Given the description of an element on the screen output the (x, y) to click on. 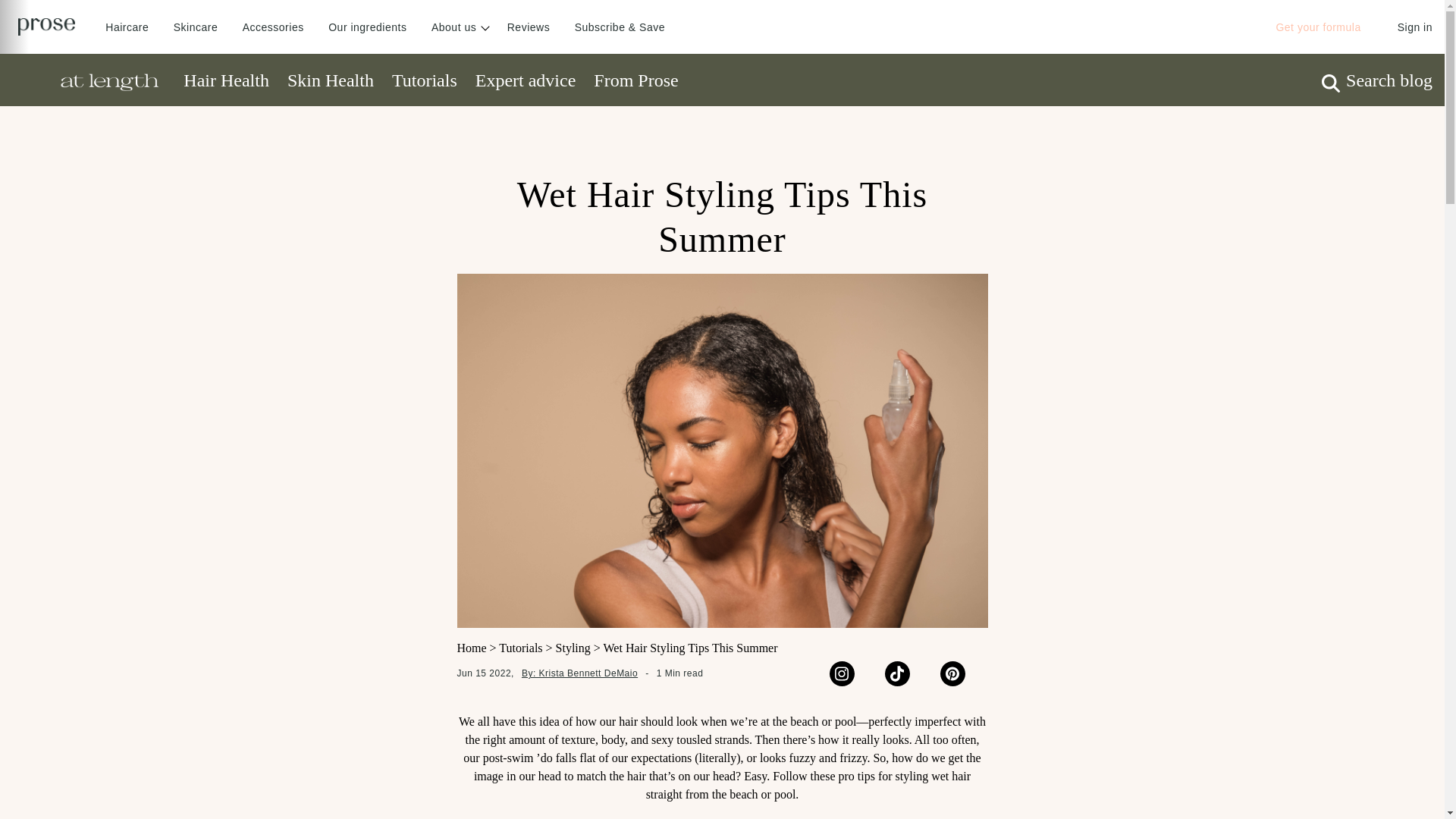
Skincare (194, 27)
Skin Health (330, 80)
Reviews (528, 27)
Search blog (1377, 80)
Haircare (126, 27)
Expert advice (526, 80)
Tutorials (424, 80)
Our ingredients (367, 27)
Accessories (273, 27)
Sign in (1414, 27)
About us (455, 27)
Get your formula (1317, 27)
Hair Health (226, 80)
From Prose (636, 80)
